Given the description of an element on the screen output the (x, y) to click on. 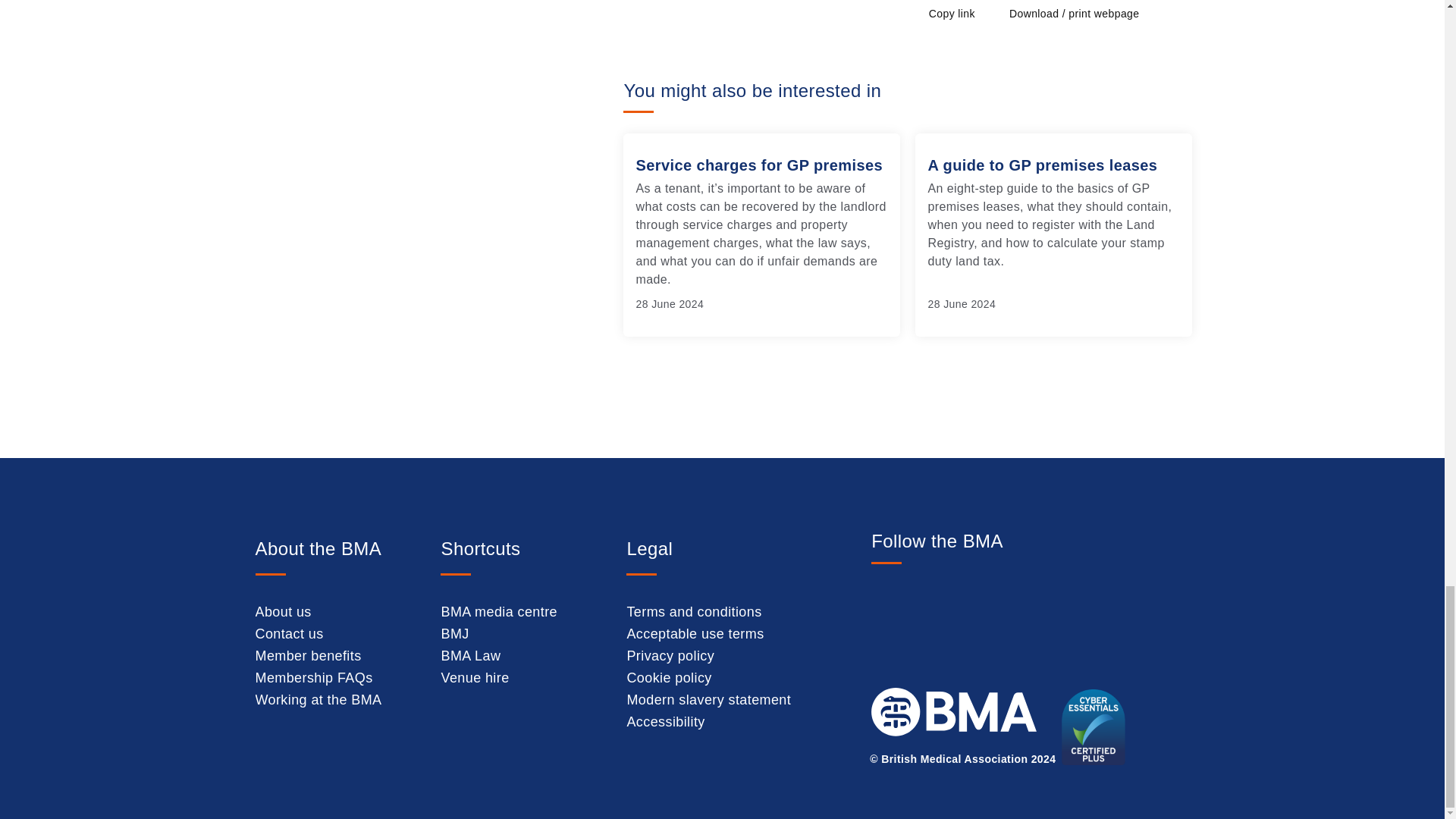
About us (282, 611)
Contact us (288, 633)
BMA media centre (498, 611)
BMJ (454, 633)
Cookie policy (668, 677)
Member benefits (307, 655)
Venue hire (474, 677)
BMA Law (470, 655)
Privacy policy (670, 655)
Acceptable use terms (694, 633)
About us (282, 611)
Cyber Essentials (1105, 727)
Accessibility (665, 721)
Working at the BMA (317, 699)
